Given the description of an element on the screen output the (x, y) to click on. 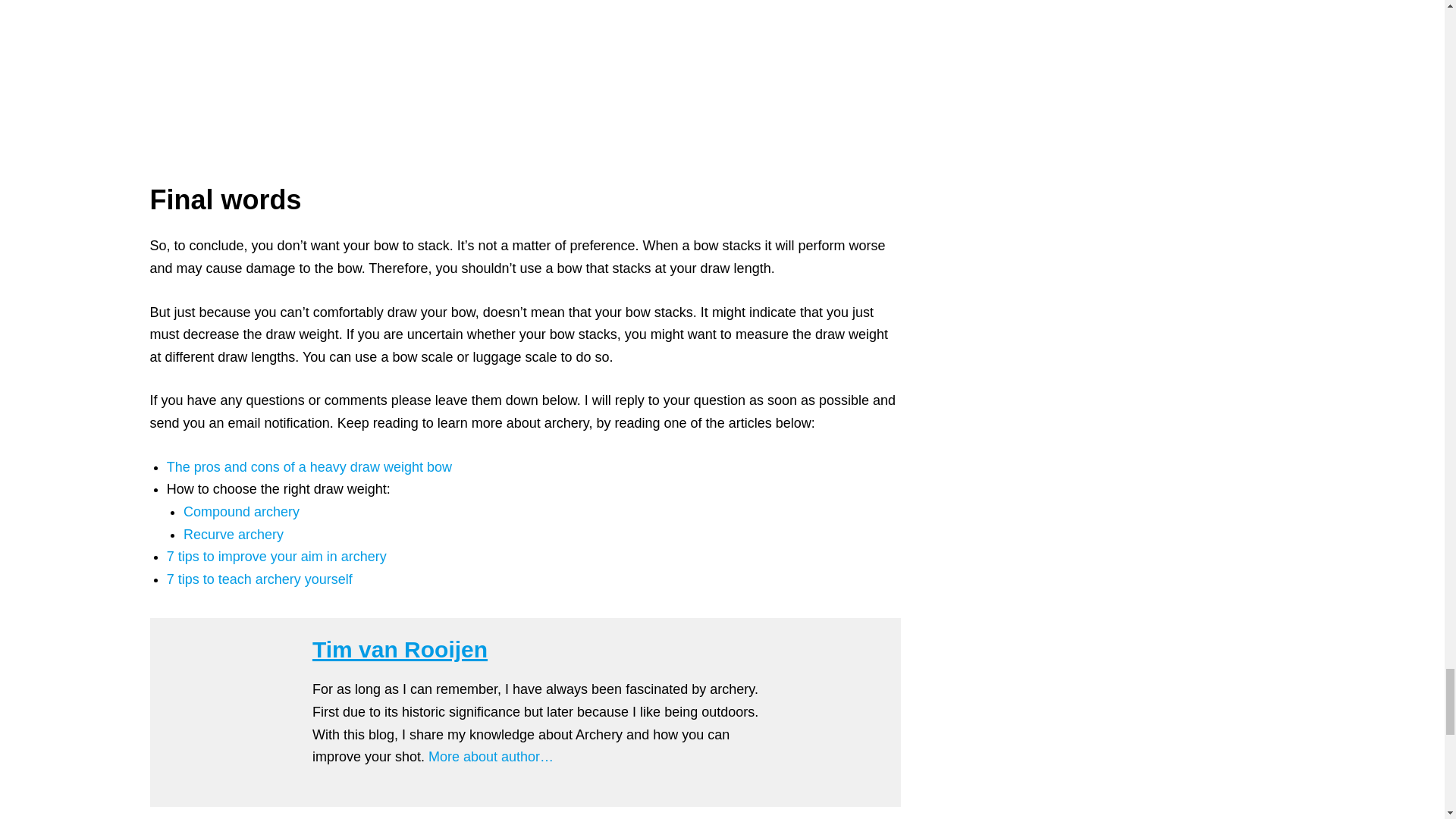
Draw graph beginners bow (718, 49)
Compound archery (241, 511)
Draw graph 70 inch recurve bow v2 (330, 61)
The pros and cons of a heavy draw weight bow (309, 467)
